Given the description of an element on the screen output the (x, y) to click on. 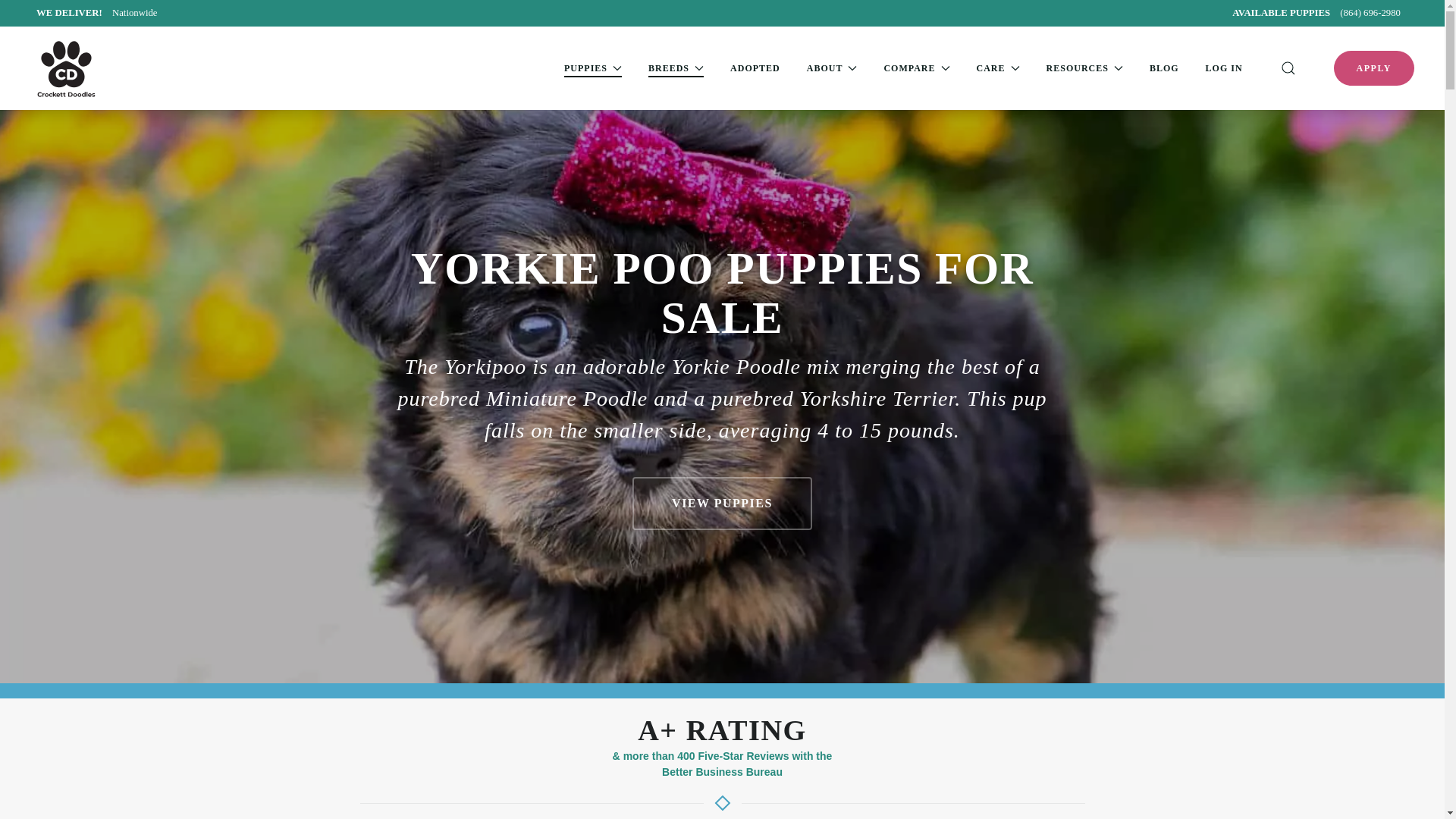
AVAILABLE PUPPIES (1281, 12)
Accredited Business (100, 12)
